Given the description of an element on the screen output the (x, y) to click on. 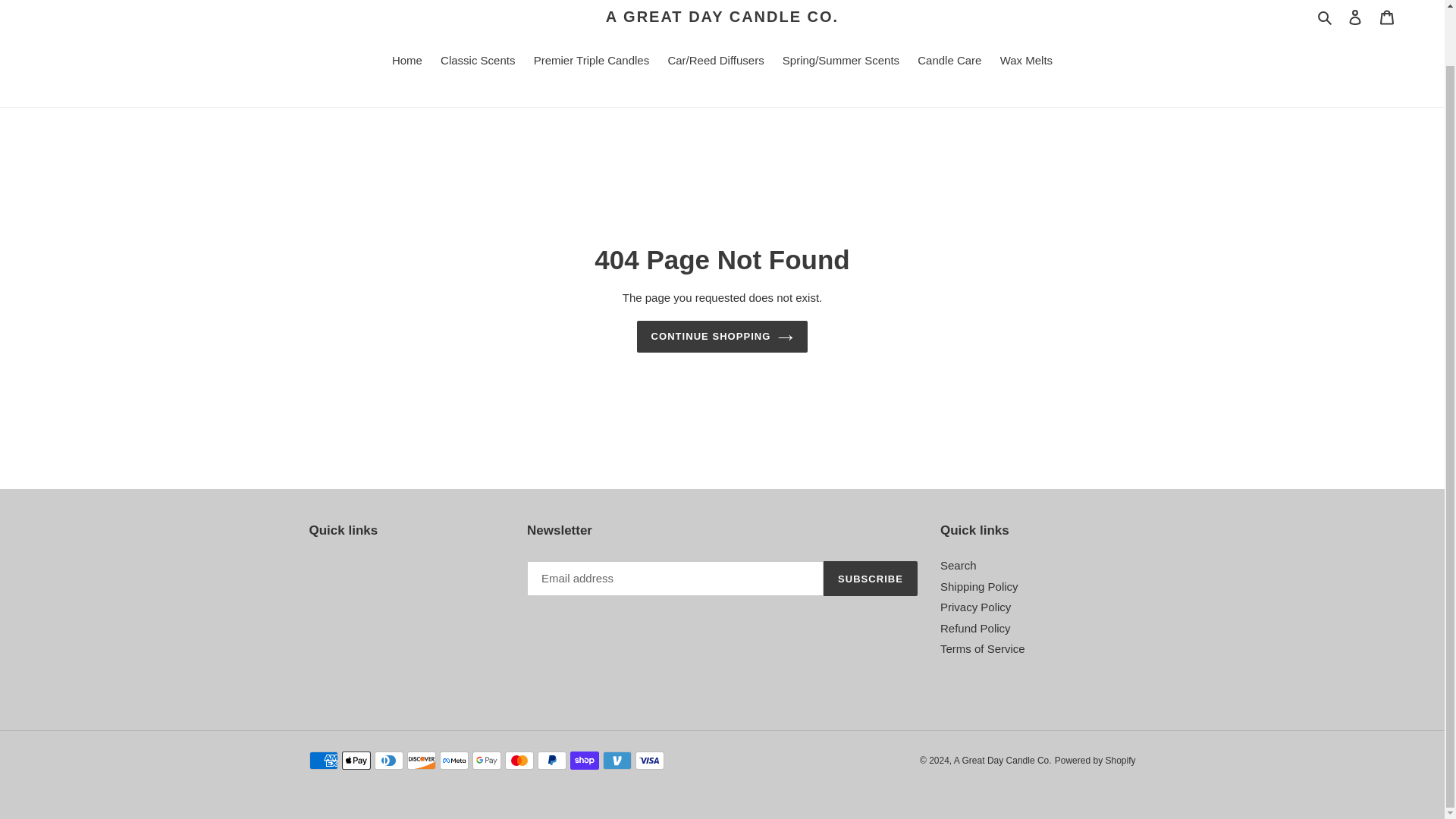
A Great Day Candle Co. (1002, 760)
A GREAT DAY CANDLE CO. (721, 16)
Powered by Shopify (1094, 760)
Premier Triple Candles (591, 61)
CONTINUE SHOPPING (722, 336)
Classic Scents (477, 61)
Terms of Service (982, 648)
Candle Care (949, 61)
Shipping Policy (978, 585)
SUBSCRIBE (870, 578)
